Given the description of an element on the screen output the (x, y) to click on. 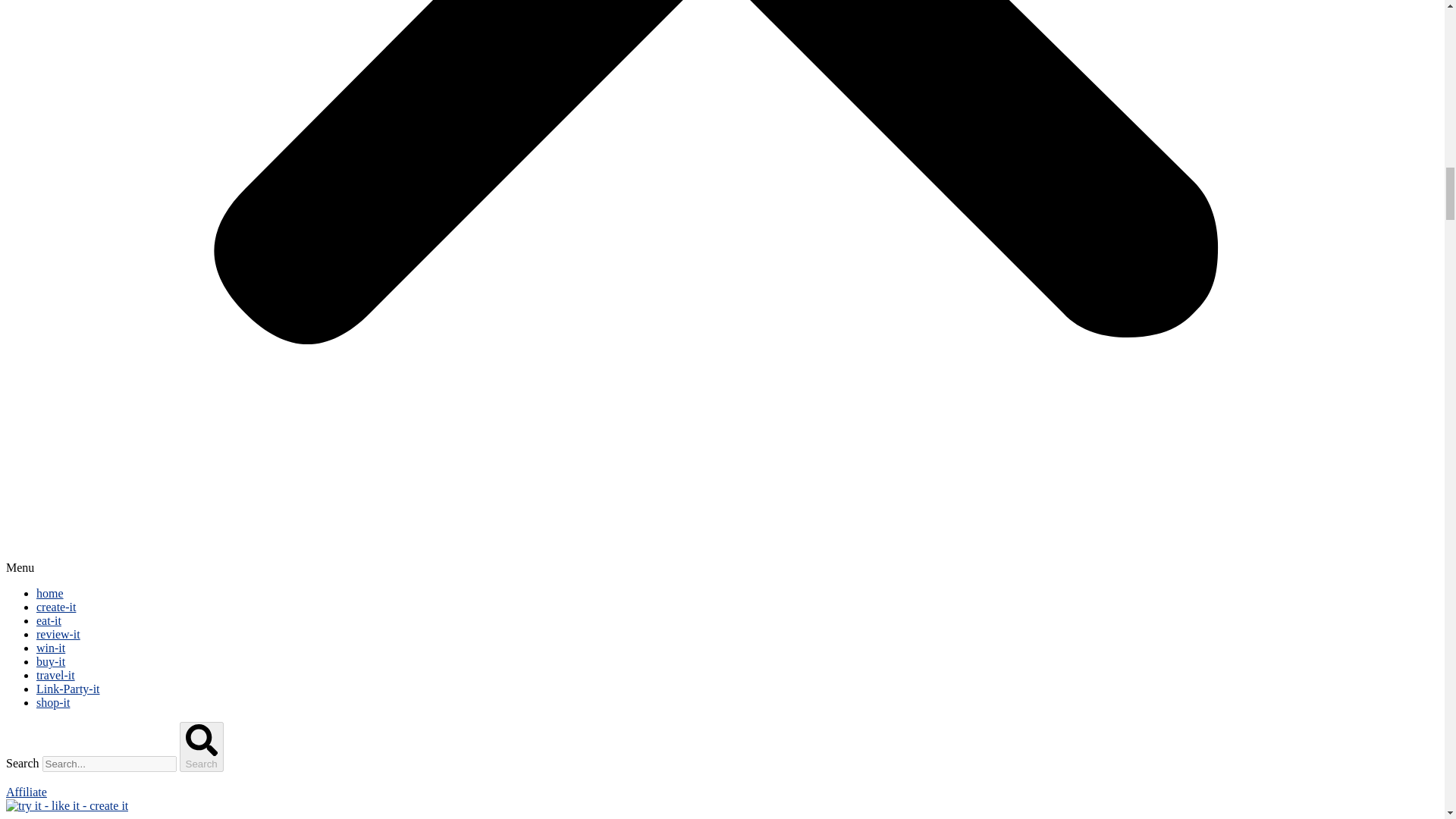
review-it (58, 634)
home (50, 593)
Search (201, 746)
travel-it (55, 675)
eat-it (48, 620)
buy-it (50, 661)
create-it (55, 606)
win-it (50, 647)
Affiliate (25, 791)
shop-it (52, 702)
Link-Party-it (68, 688)
